Given the description of an element on the screen output the (x, y) to click on. 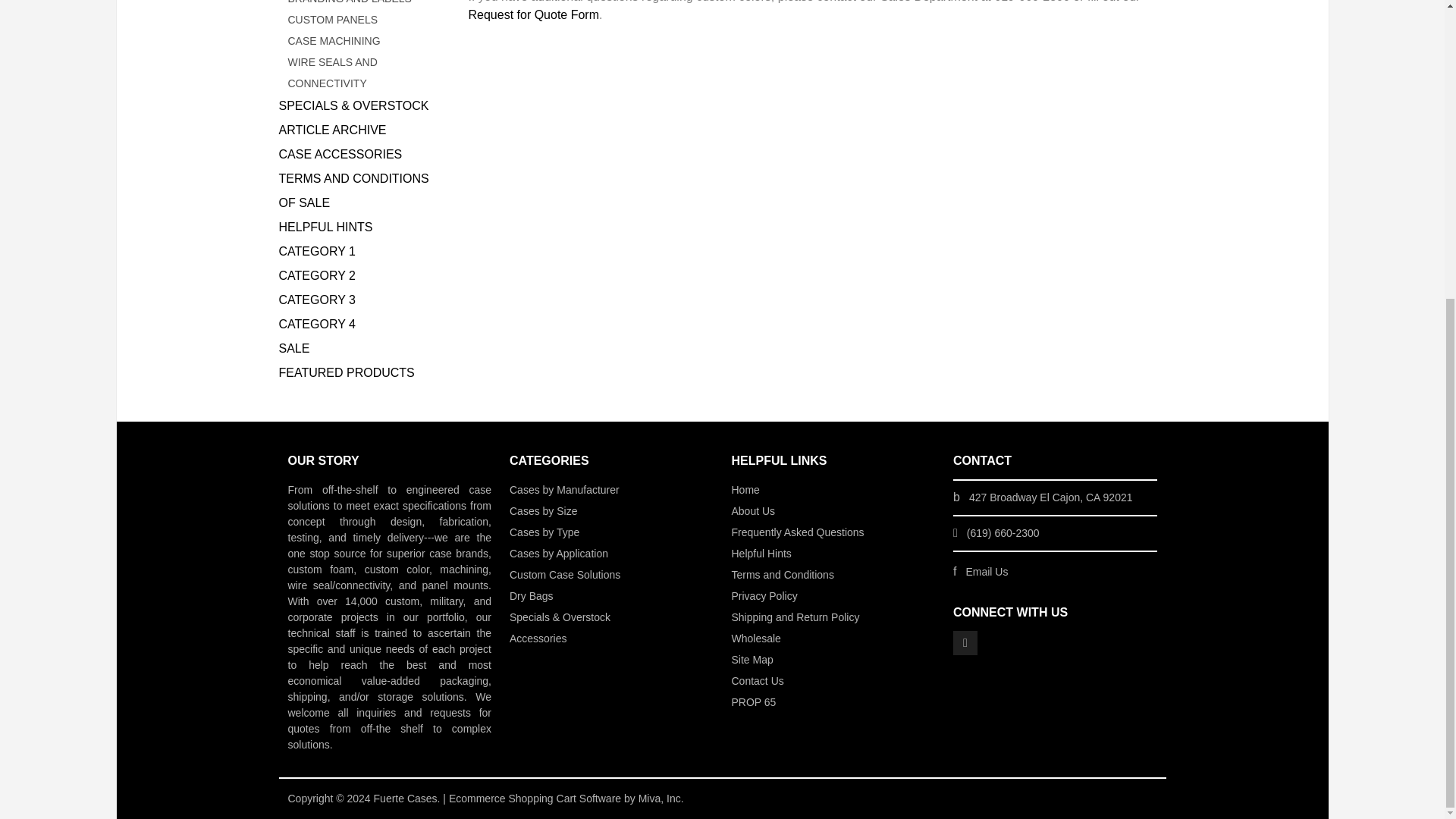
Custom Panels (367, 19)
Branding and Labels (367, 4)
Case Accessories (362, 154)
Case Machining (367, 40)
Wire Seals and Connectivity (367, 72)
Article Archive (362, 129)
